Given the description of an element on the screen output the (x, y) to click on. 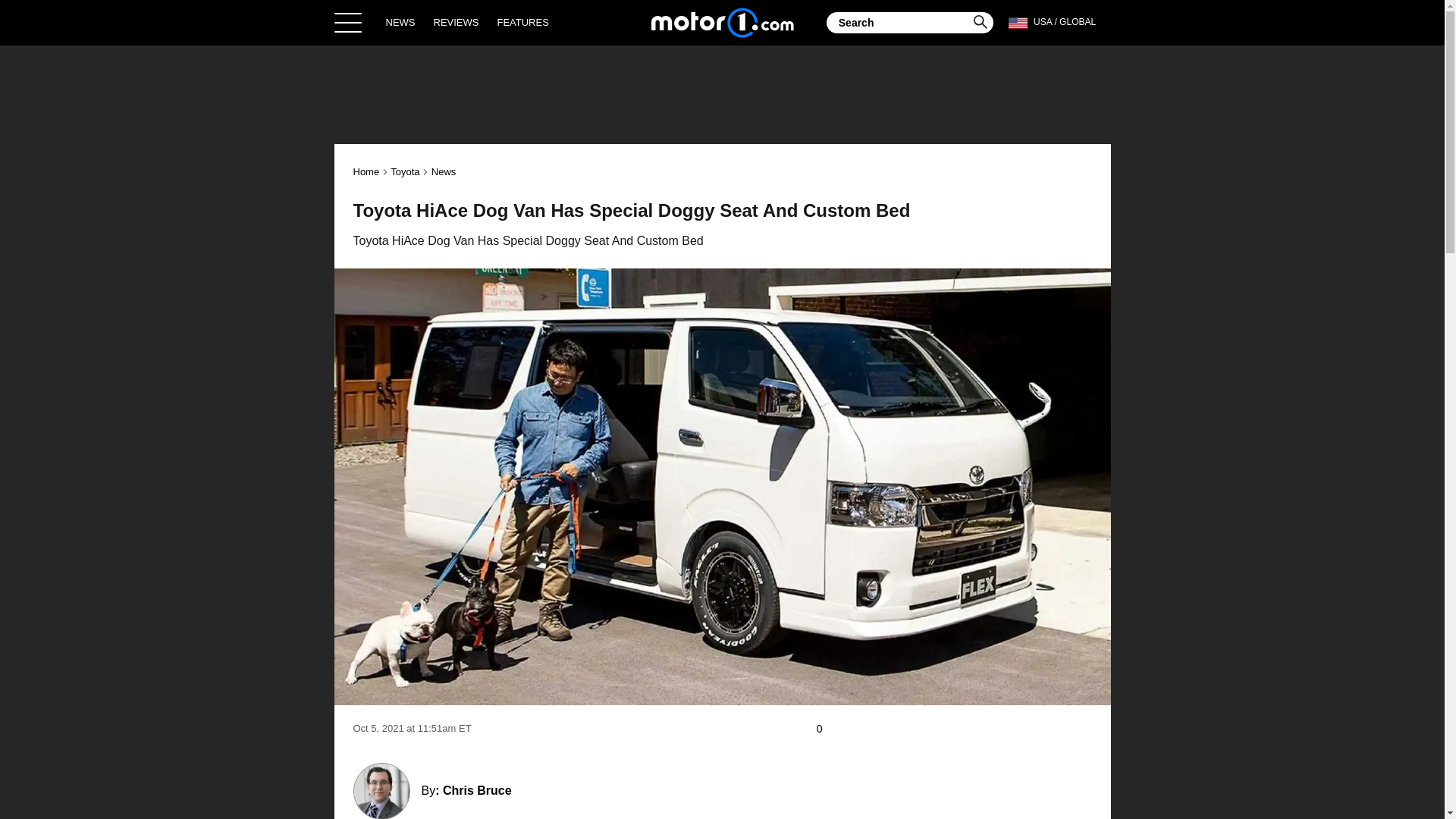
Toyota (404, 171)
News (443, 171)
REVIEWS (456, 22)
Chris Bruce (477, 789)
Home (366, 171)
FEATURES (522, 22)
0 (826, 728)
NEWS (399, 22)
Home (721, 22)
